Given the description of an element on the screen output the (x, y) to click on. 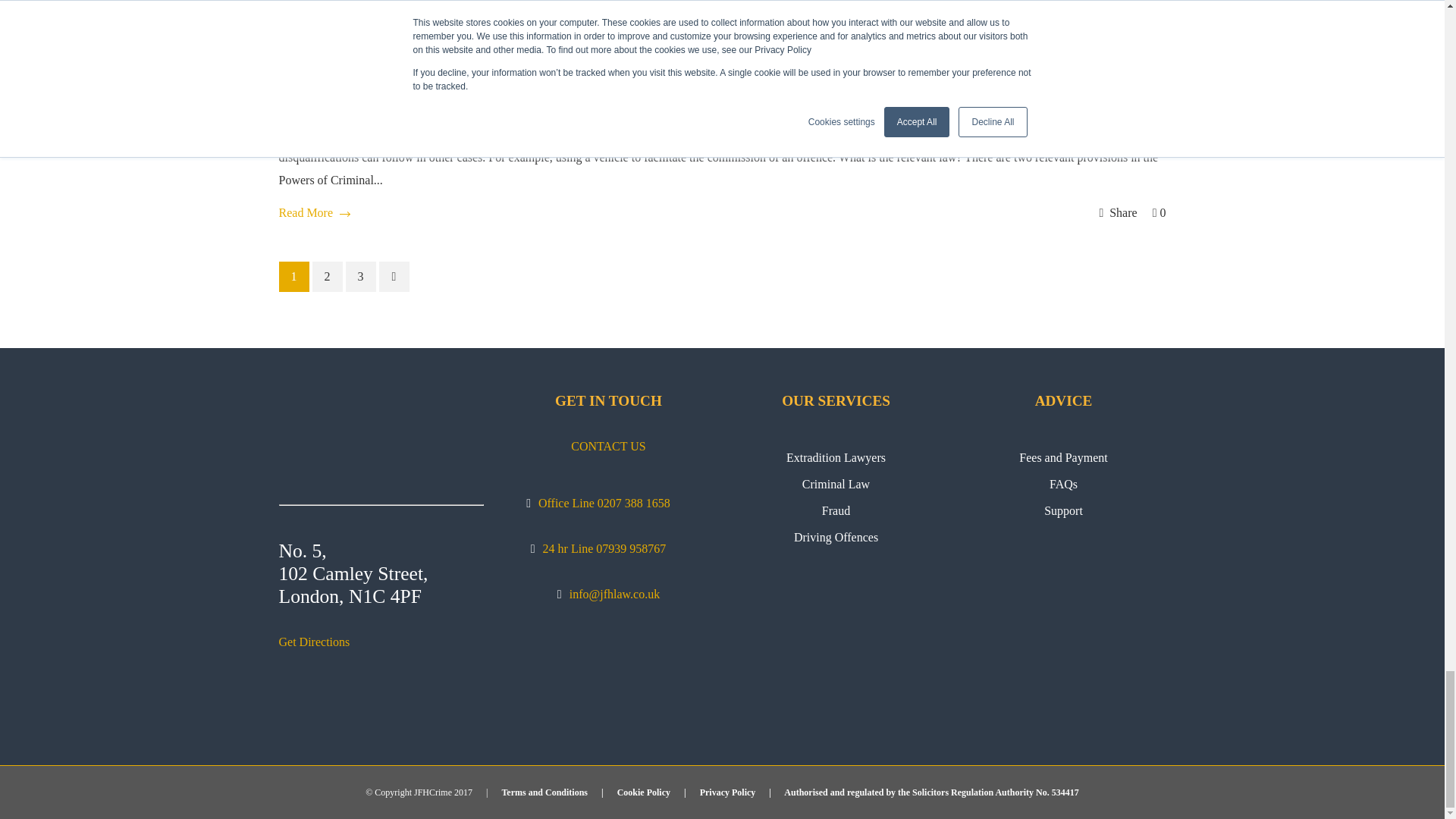
SRA Badge (608, 689)
